Given the description of an element on the screen output the (x, y) to click on. 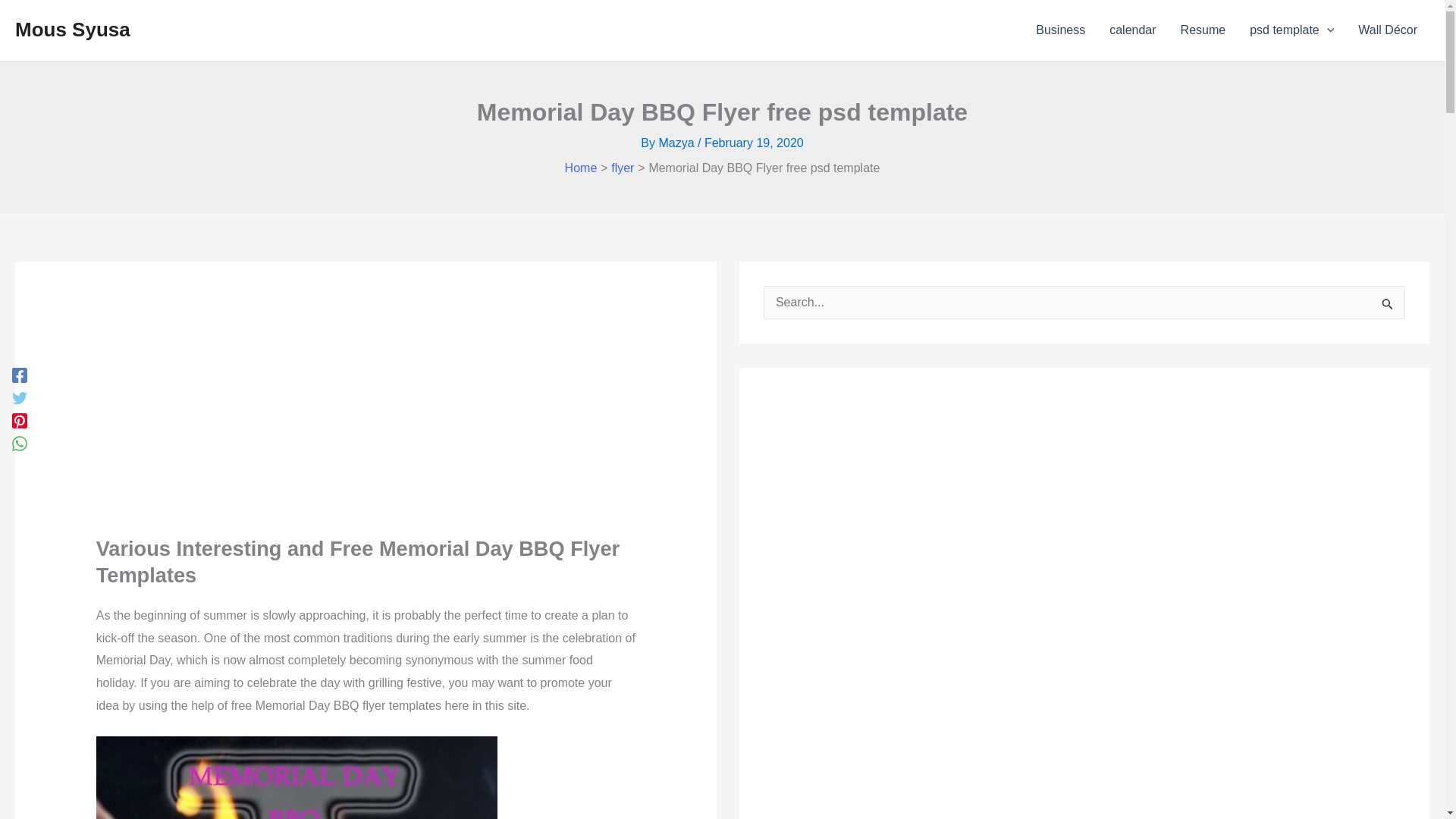
Advertisement (209, 426)
Business (1060, 30)
calendar (1132, 30)
Mous Syusa (72, 29)
View all posts by Mazya (677, 142)
Mazya (677, 142)
Screenshot (296, 777)
flyer (622, 167)
Home (580, 167)
psd template (1291, 30)
